Given the description of an element on the screen output the (x, y) to click on. 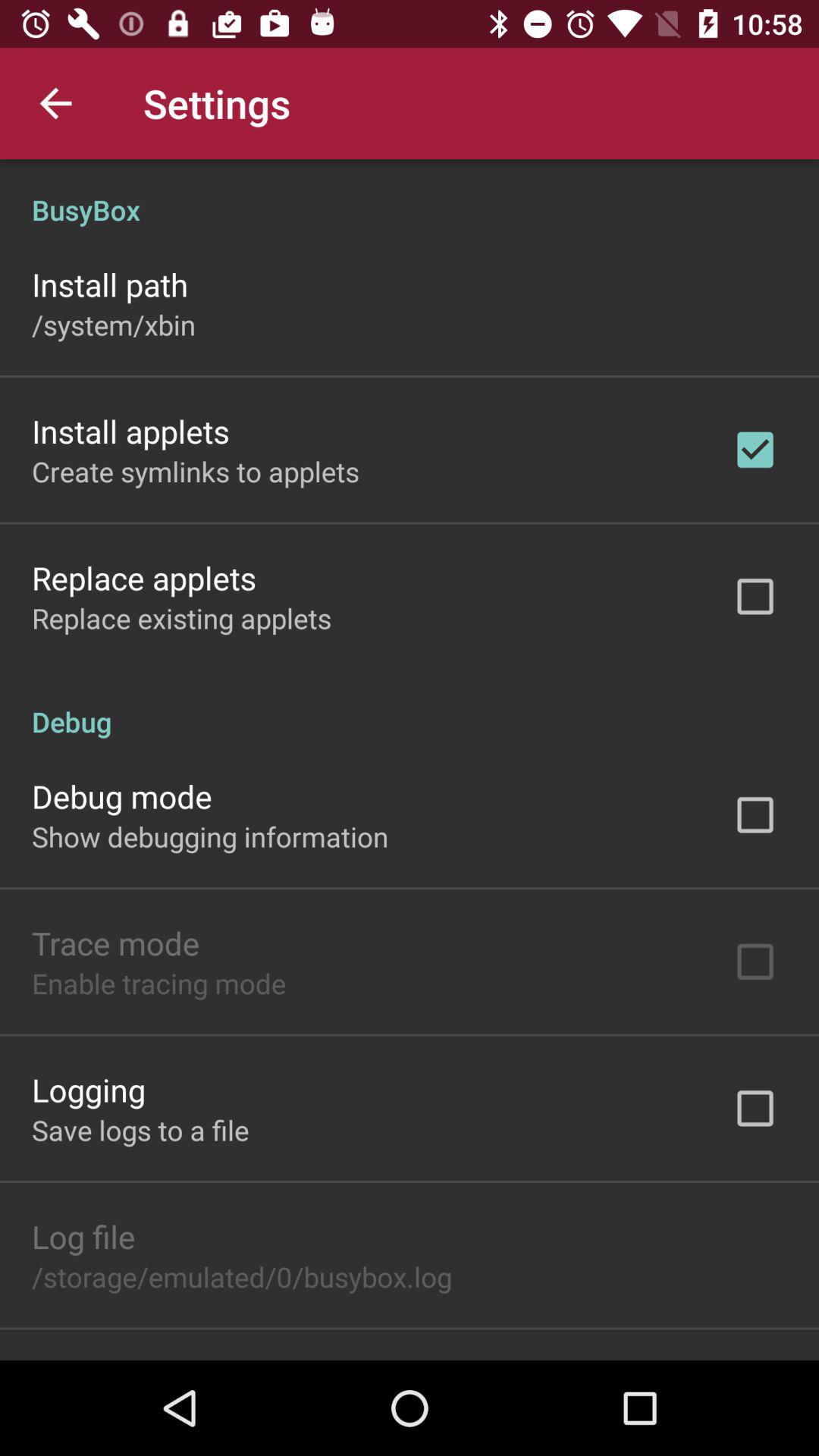
scroll to the save logs to (140, 1129)
